Given the description of an element on the screen output the (x, y) to click on. 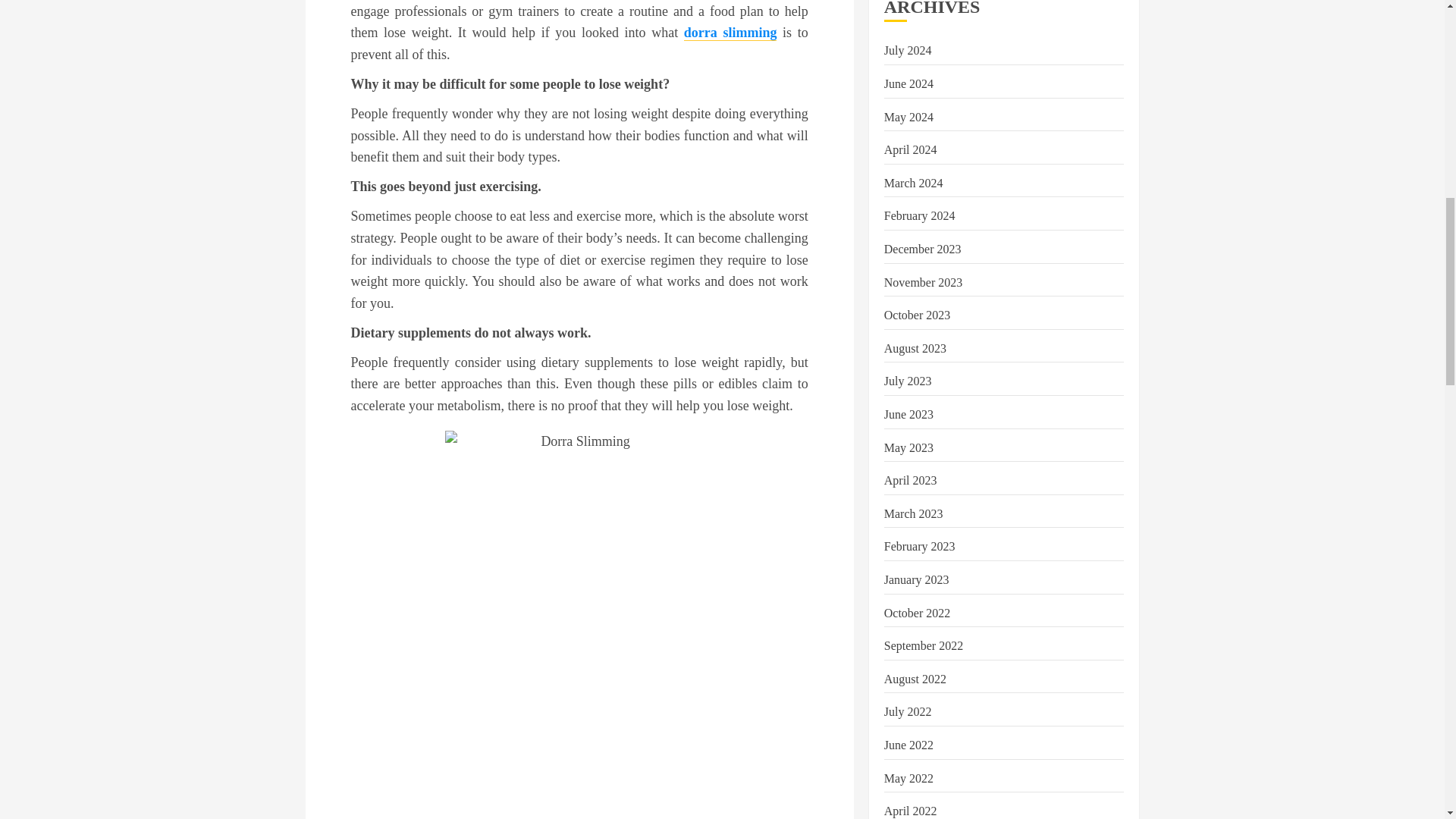
dorra slimming (730, 32)
December 2023 (921, 249)
March 2024 (913, 183)
November 2023 (922, 282)
May 2024 (908, 117)
April 2024 (910, 150)
July 2024 (907, 50)
June 2024 (908, 83)
February 2024 (919, 215)
